Given the description of an element on the screen output the (x, y) to click on. 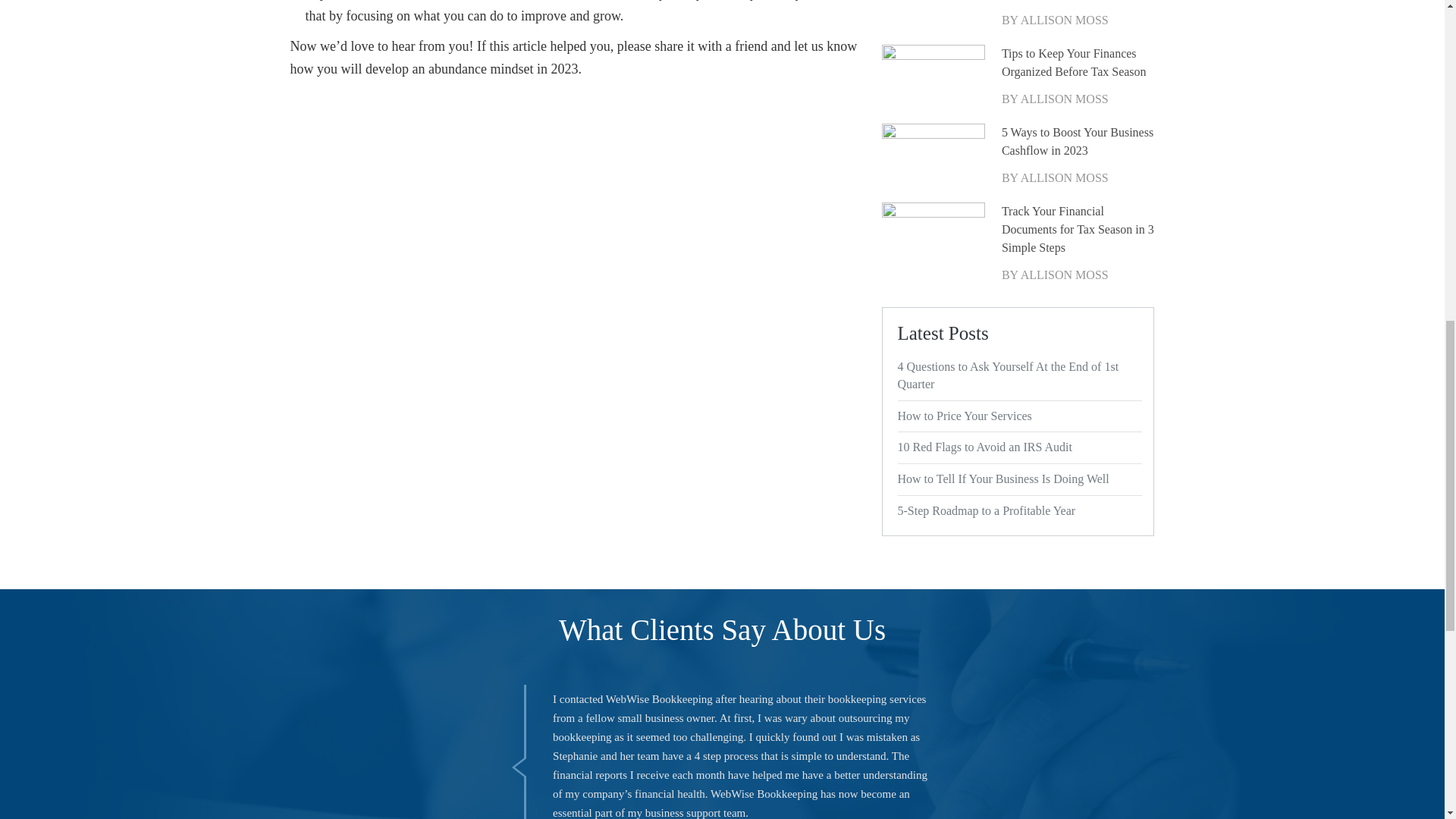
Creating an Abundance Mindset for 2023 (1077, 1)
Tips to Keep Your Finances Organized Before Tax Season (1077, 63)
How to Tell If Your Business Is Doing Well (1018, 479)
4 Questions to Ask Yourself At the End of 1st Quarter (1018, 376)
10 Red Flags to Avoid an IRS Audit (1018, 447)
How to Price Your Services (1018, 415)
5-Step Roadmap to a Profitable Year (1018, 511)
5 Ways to Boost Your Business Cashflow in 2023 (1077, 141)
